Given the description of an element on the screen output the (x, y) to click on. 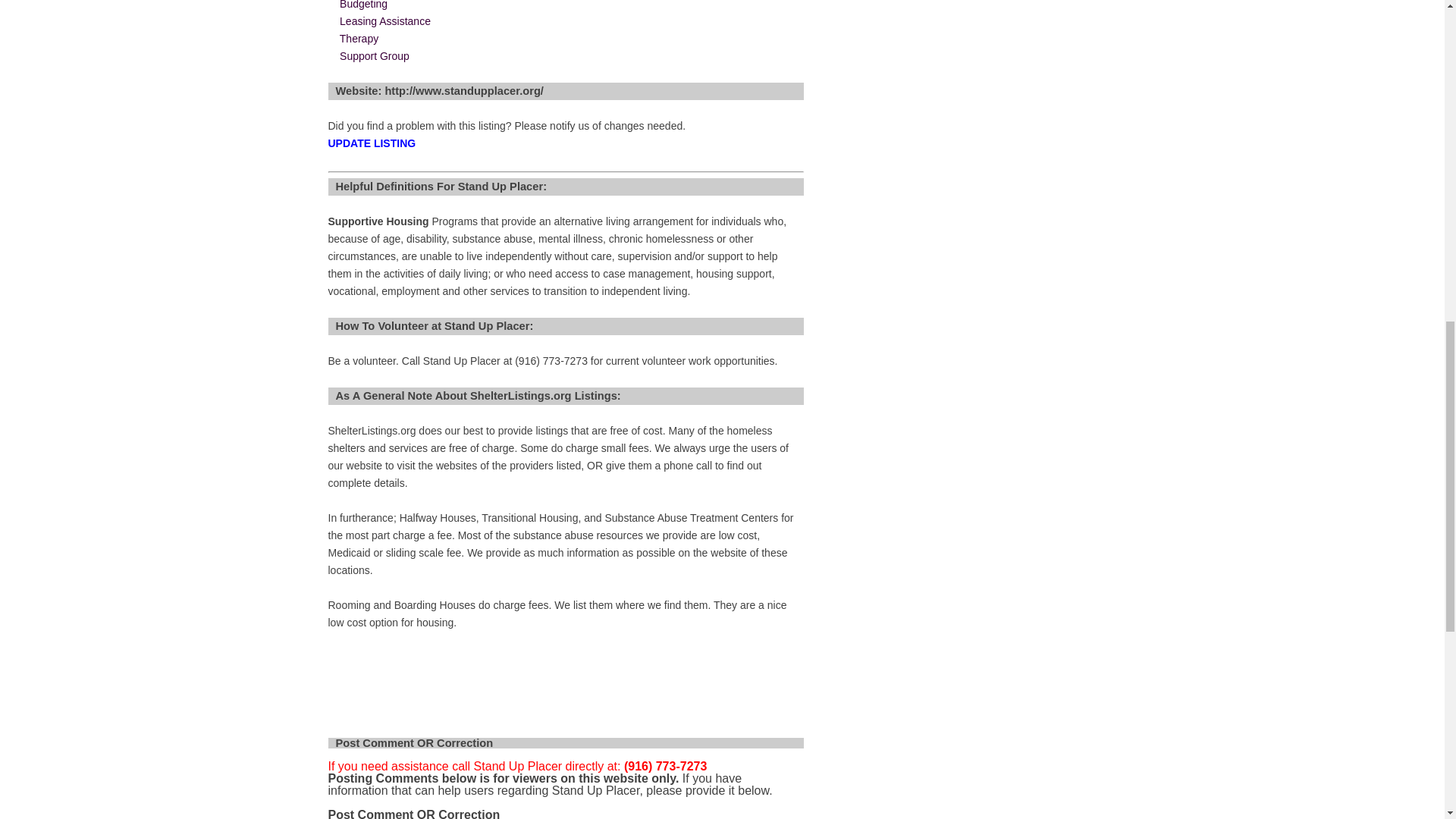
UPDATE LISTING (370, 143)
